Given the description of an element on the screen output the (x, y) to click on. 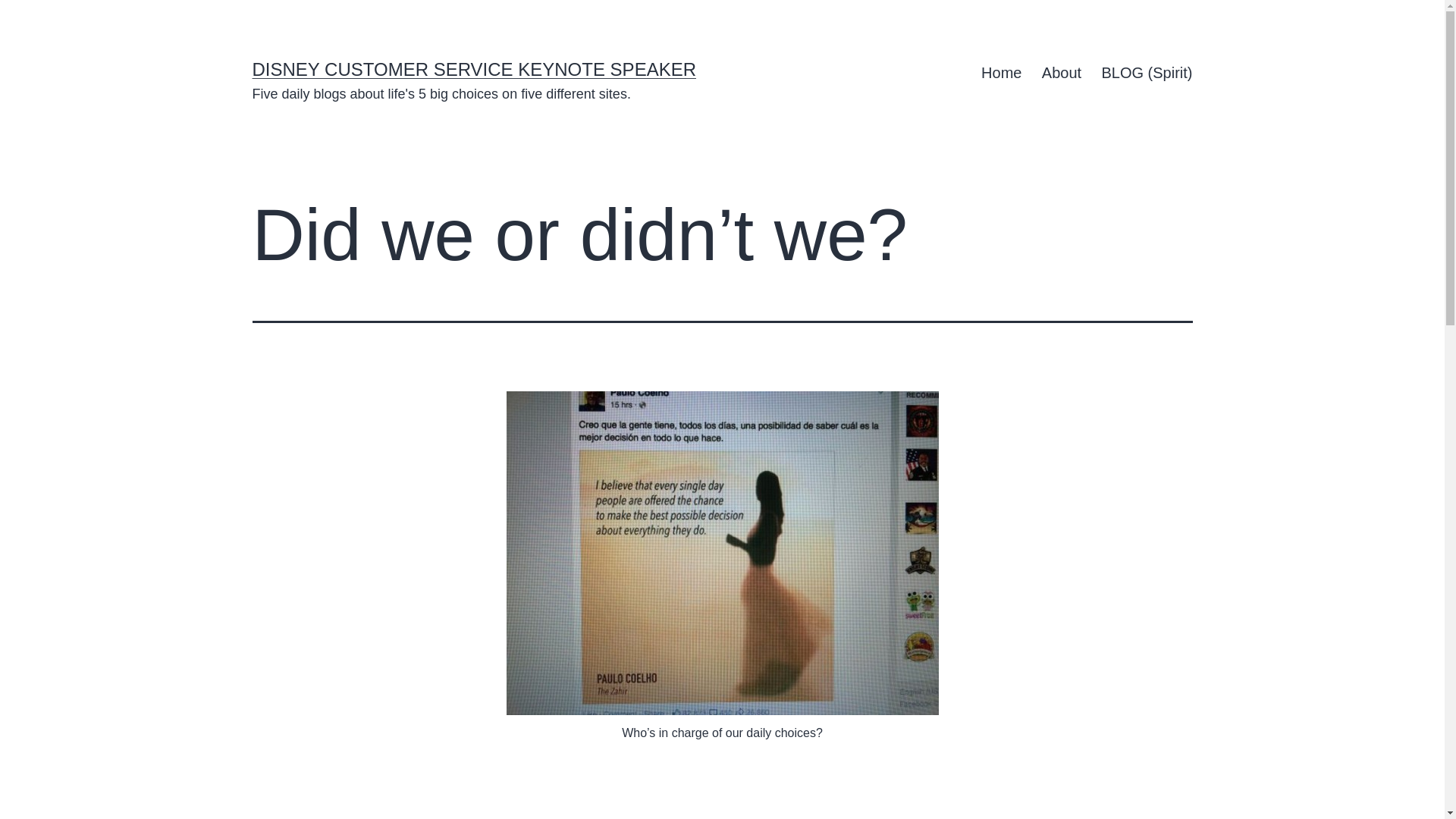
Home (1001, 72)
DISNEY CUSTOMER SERVICE KEYNOTE SPEAKER (473, 68)
About (1062, 72)
